Given the description of an element on the screen output the (x, y) to click on. 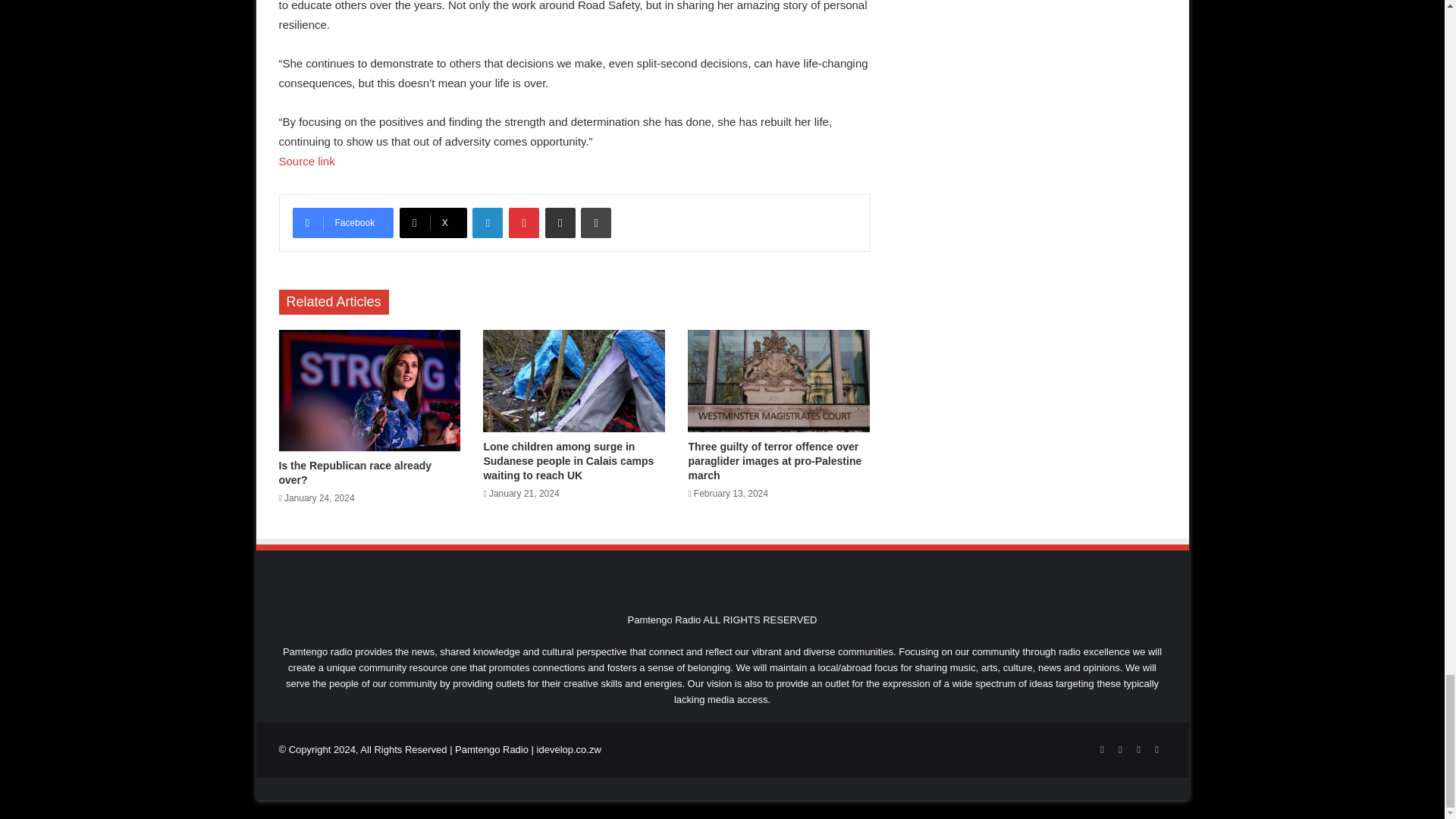
Print (595, 223)
LinkedIn (486, 223)
LinkedIn (486, 223)
Print (595, 223)
Pinterest (523, 223)
Source link (306, 160)
Pinterest (523, 223)
Facebook (343, 223)
Is the Republican race already over? (355, 472)
Share via Email (559, 223)
Facebook (343, 223)
X (432, 223)
Share via Email (559, 223)
